Given the description of an element on the screen output the (x, y) to click on. 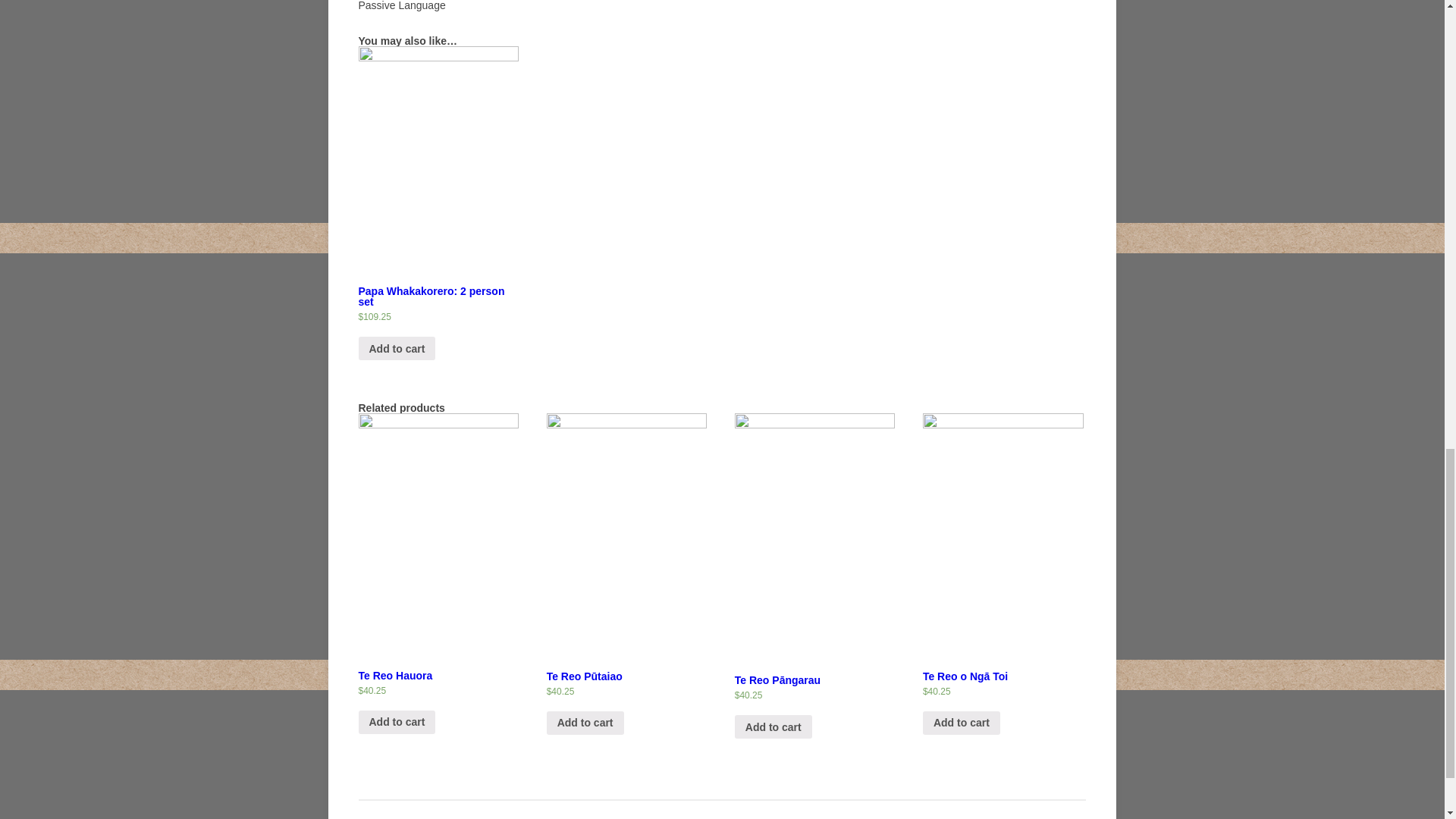
Add to cart (585, 722)
Add to cart (396, 348)
Add to cart (773, 726)
Add to cart (396, 721)
Add to cart (961, 722)
